Given the description of an element on the screen output the (x, y) to click on. 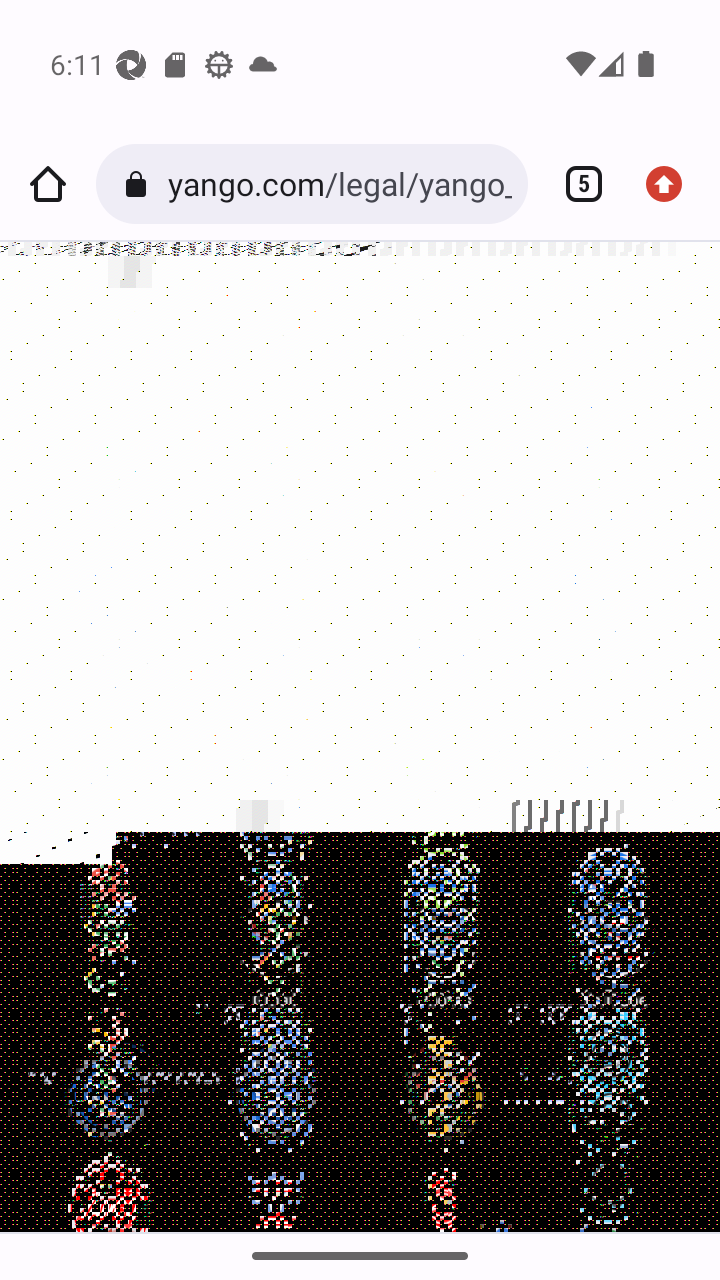
Home (47, 184)
Connection is secure (139, 184)
Switch or close tabs (575, 184)
Update available. More options (672, 184)
